Given the description of an element on the screen output the (x, y) to click on. 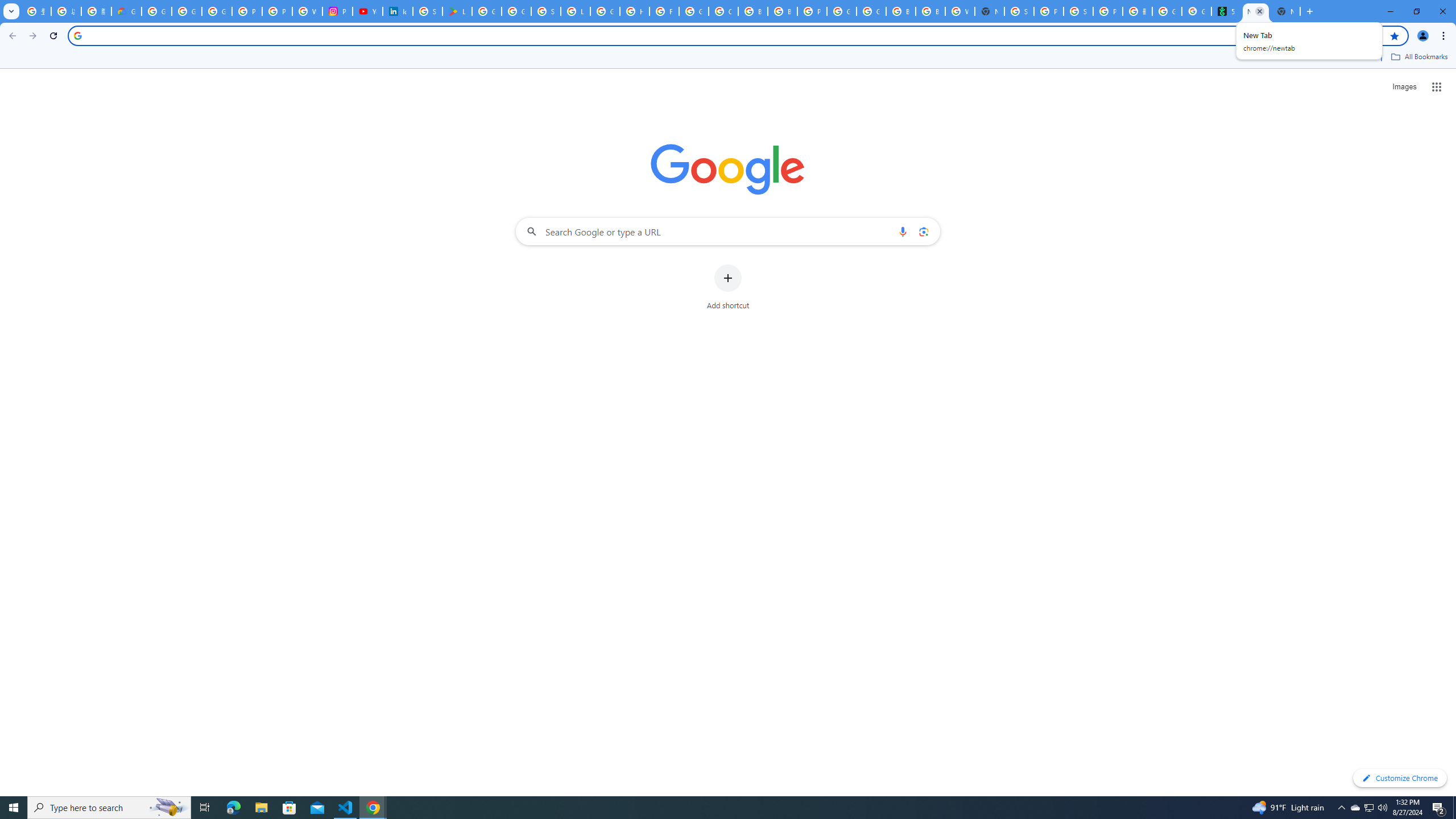
Google Workspace - Specific Terms (515, 11)
Google Cloud Platform (841, 11)
